Given the description of an element on the screen output the (x, y) to click on. 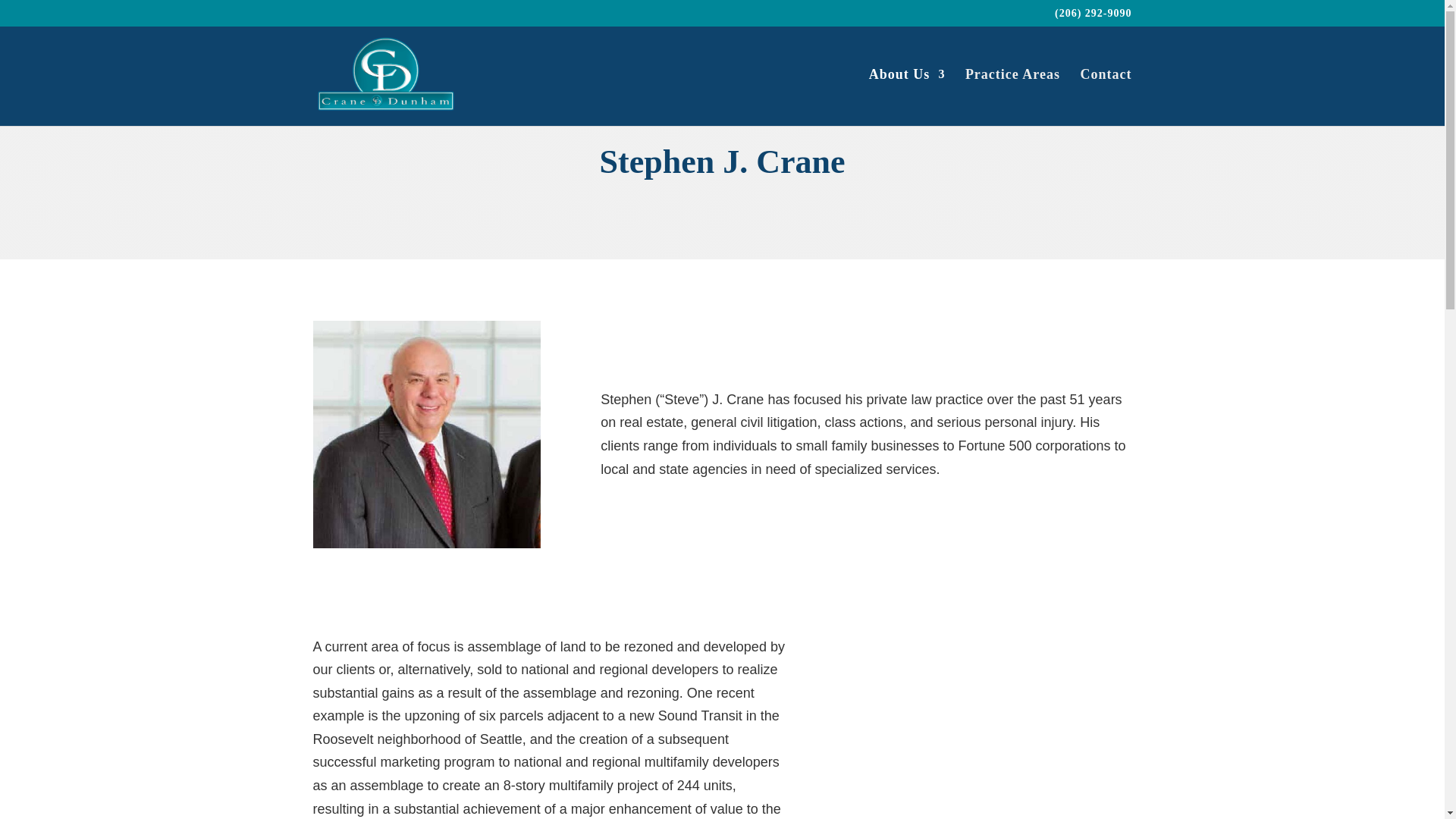
Contact (1105, 97)
Practice Areas (1012, 97)
About Us (906, 97)
steve-crane (426, 434)
